Given the description of an element on the screen output the (x, y) to click on. 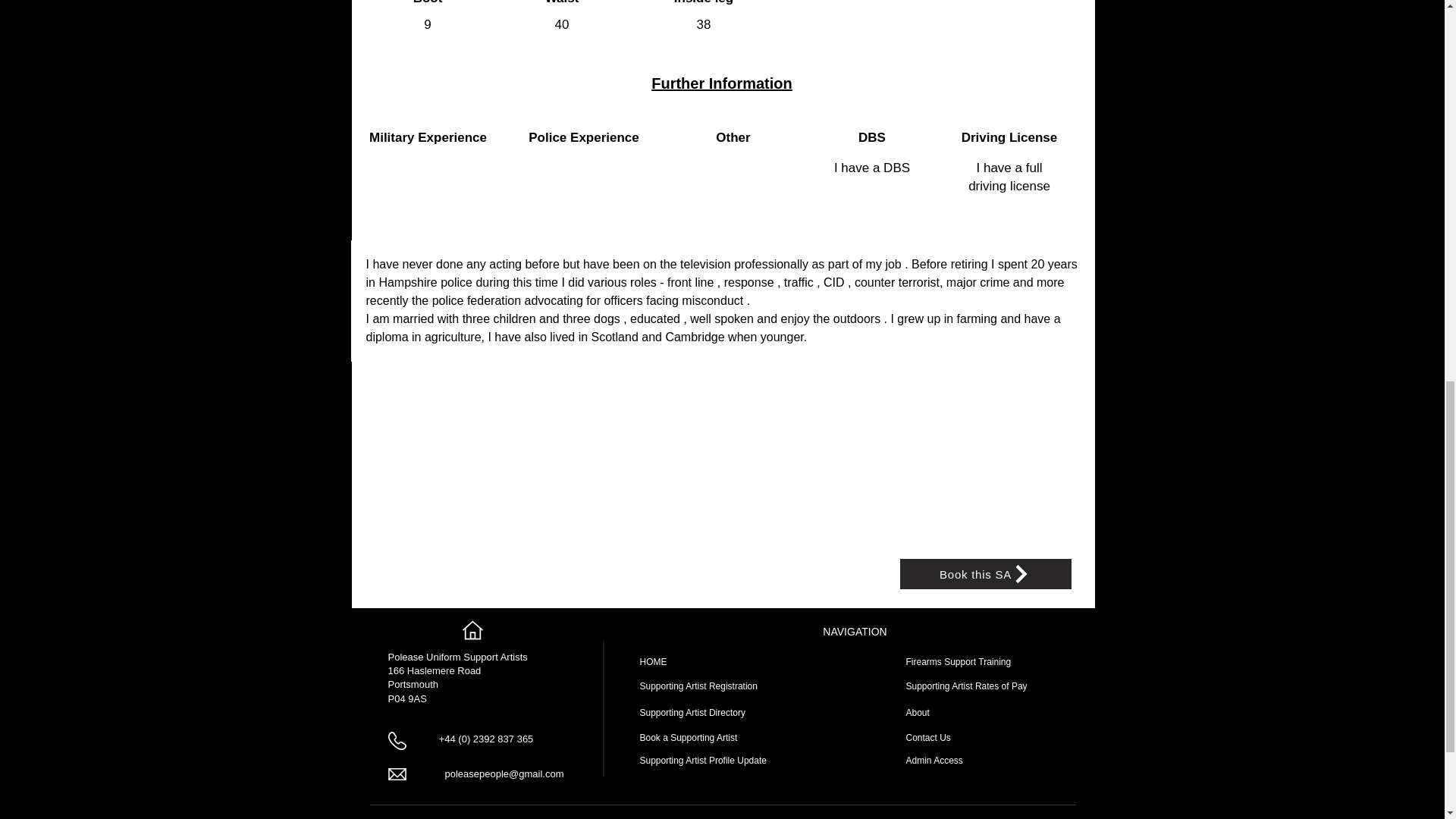
HOME (653, 661)
Supporting Artist Profile Update (703, 760)
Supporting Artist Directory (692, 712)
Firearms Support Training (957, 661)
Admin Access (933, 760)
Supporting Artist Rates of Pay (965, 685)
Book this SA (984, 573)
Contact Us (927, 737)
Supporting Artist Registration (698, 685)
Book a Supporting Artist (689, 737)
About (916, 712)
